Given the description of an element on the screen output the (x, y) to click on. 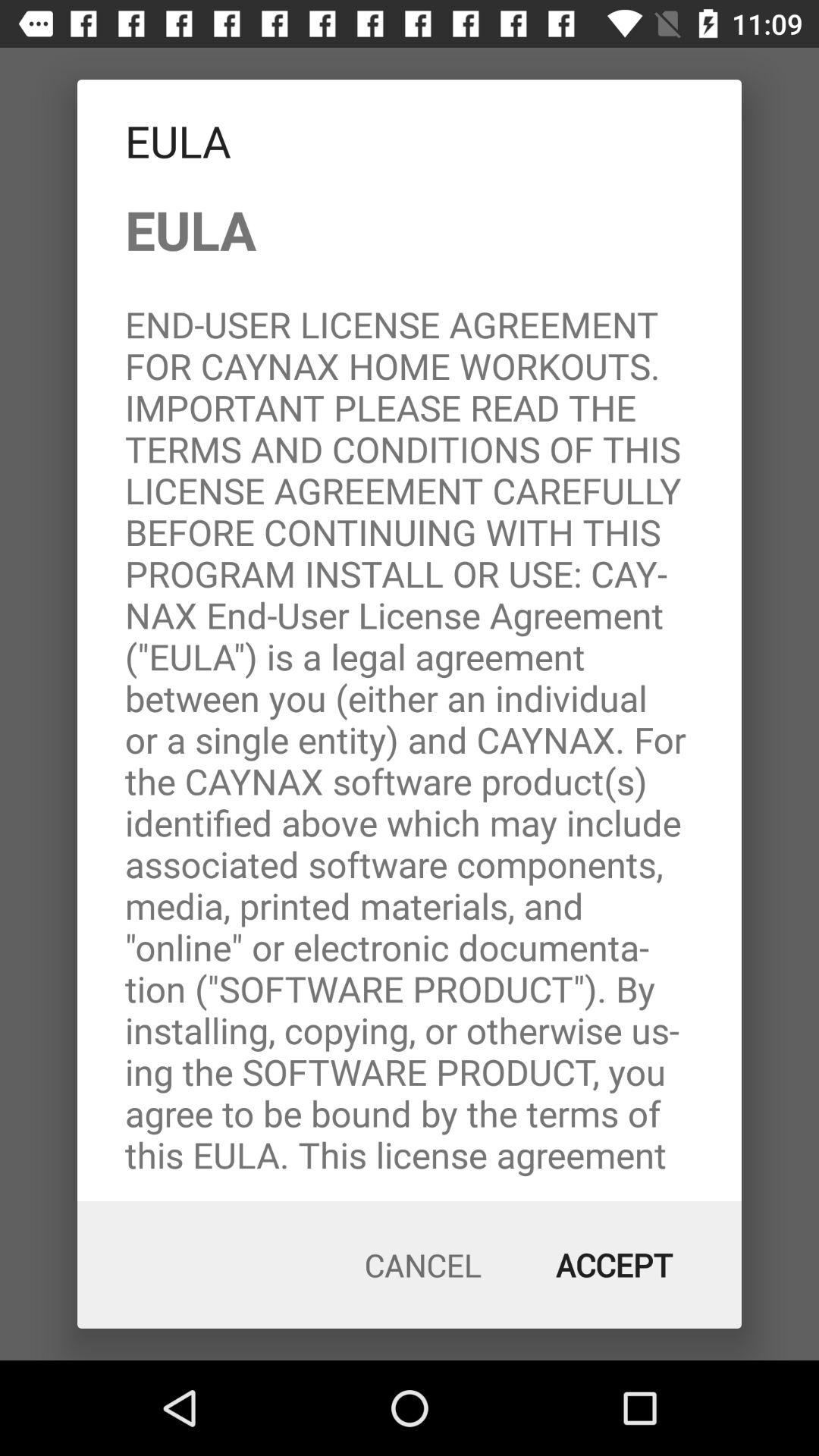
turn on the button to the left of accept button (422, 1264)
